Given the description of an element on the screen output the (x, y) to click on. 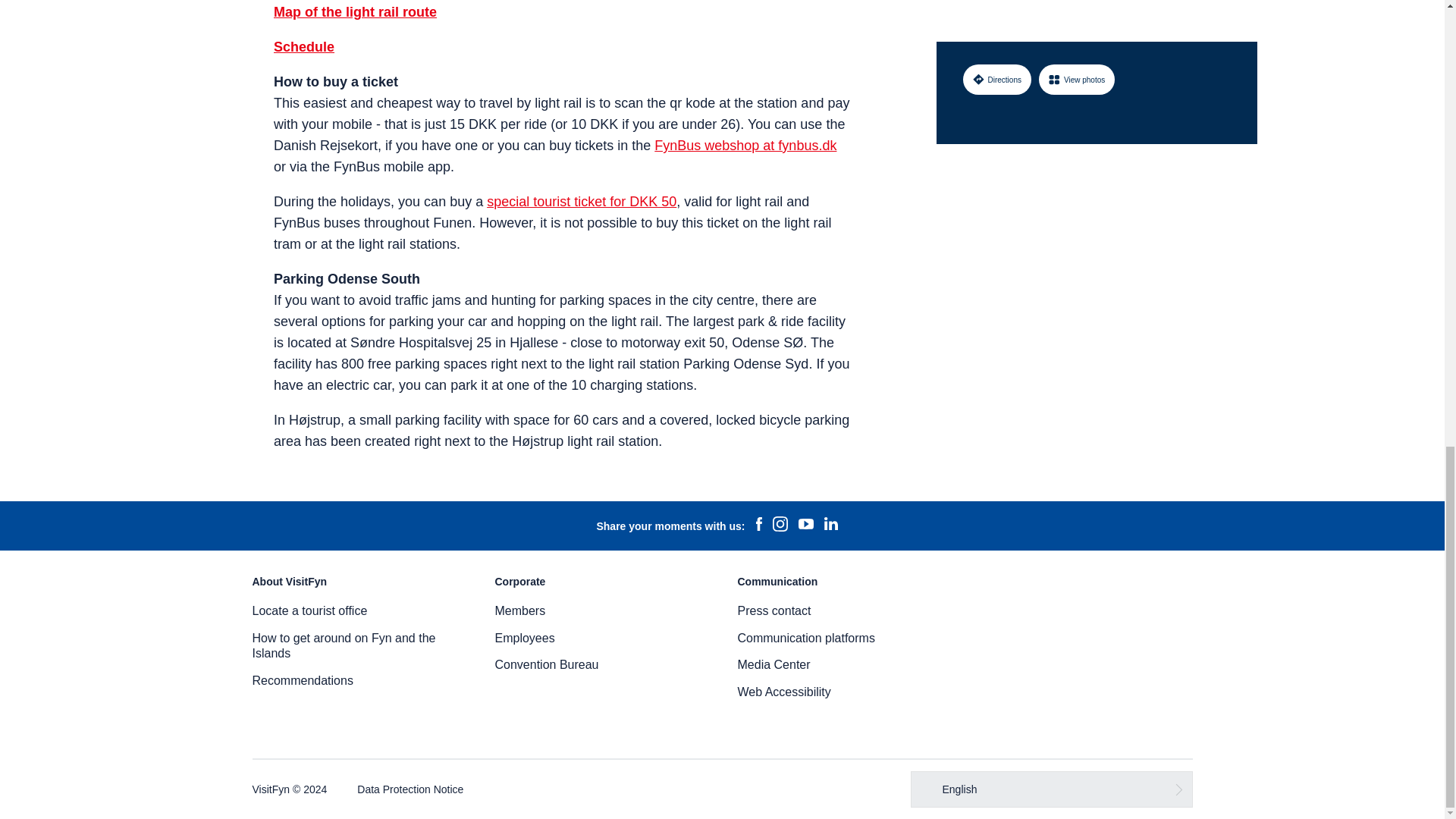
Communication platforms (805, 637)
Convention Bureau (546, 664)
instagram (780, 526)
Media Center (772, 664)
youtube (805, 525)
linkedin (830, 525)
Employees (524, 637)
Locate a tourist office (308, 610)
How to get around on Fyn and the Islands (343, 645)
Web Accessibility (782, 691)
FynBus webshop at fynbus.dk (744, 145)
Web Accessibility (782, 691)
Members (519, 610)
Press contact (773, 610)
Data Protection Notice (409, 789)
